Given the description of an element on the screen output the (x, y) to click on. 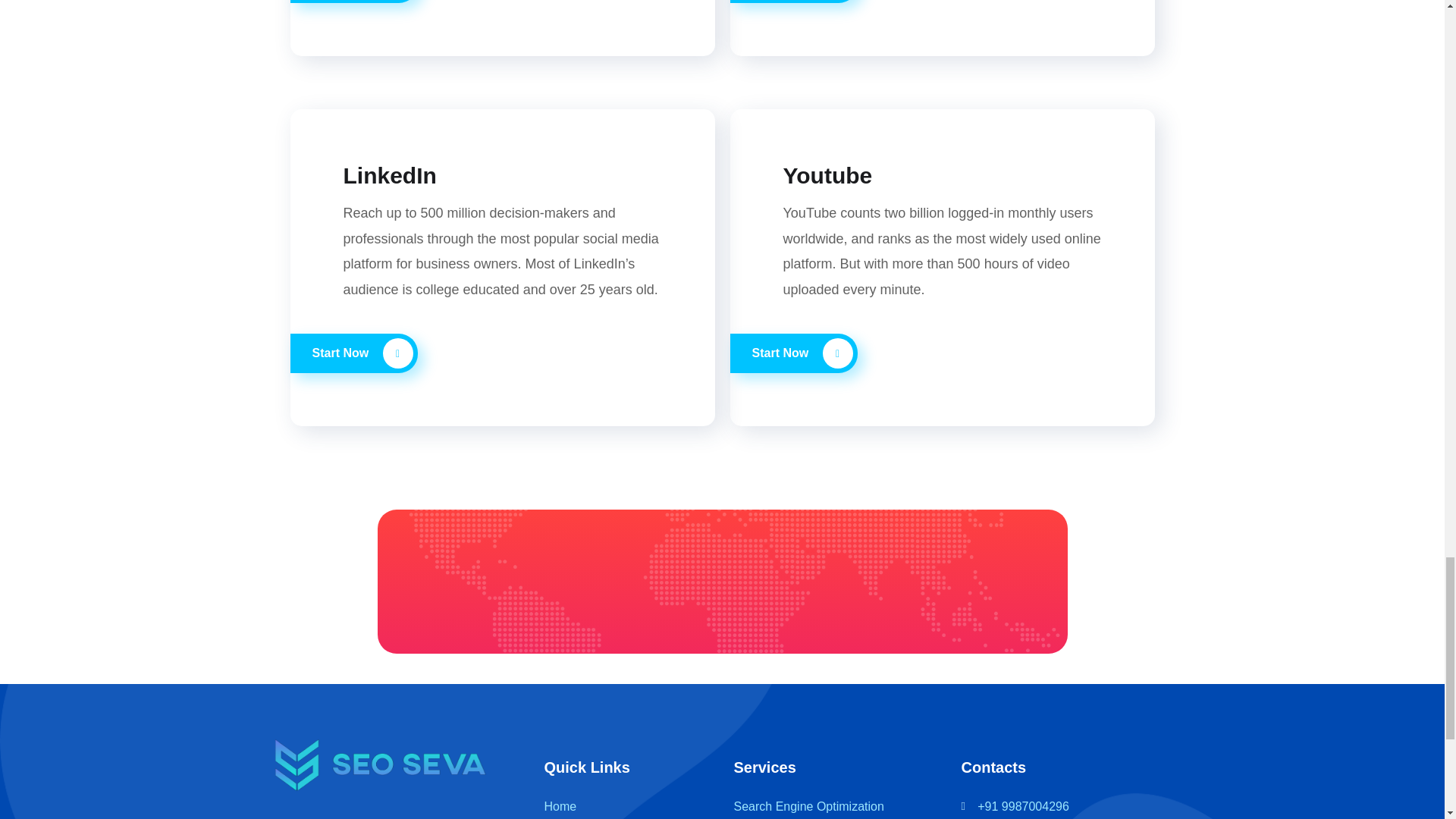
Start Now (352, 1)
Start Now (793, 1)
Start Now (352, 353)
Start Now (793, 353)
